Given the description of an element on the screen output the (x, y) to click on. 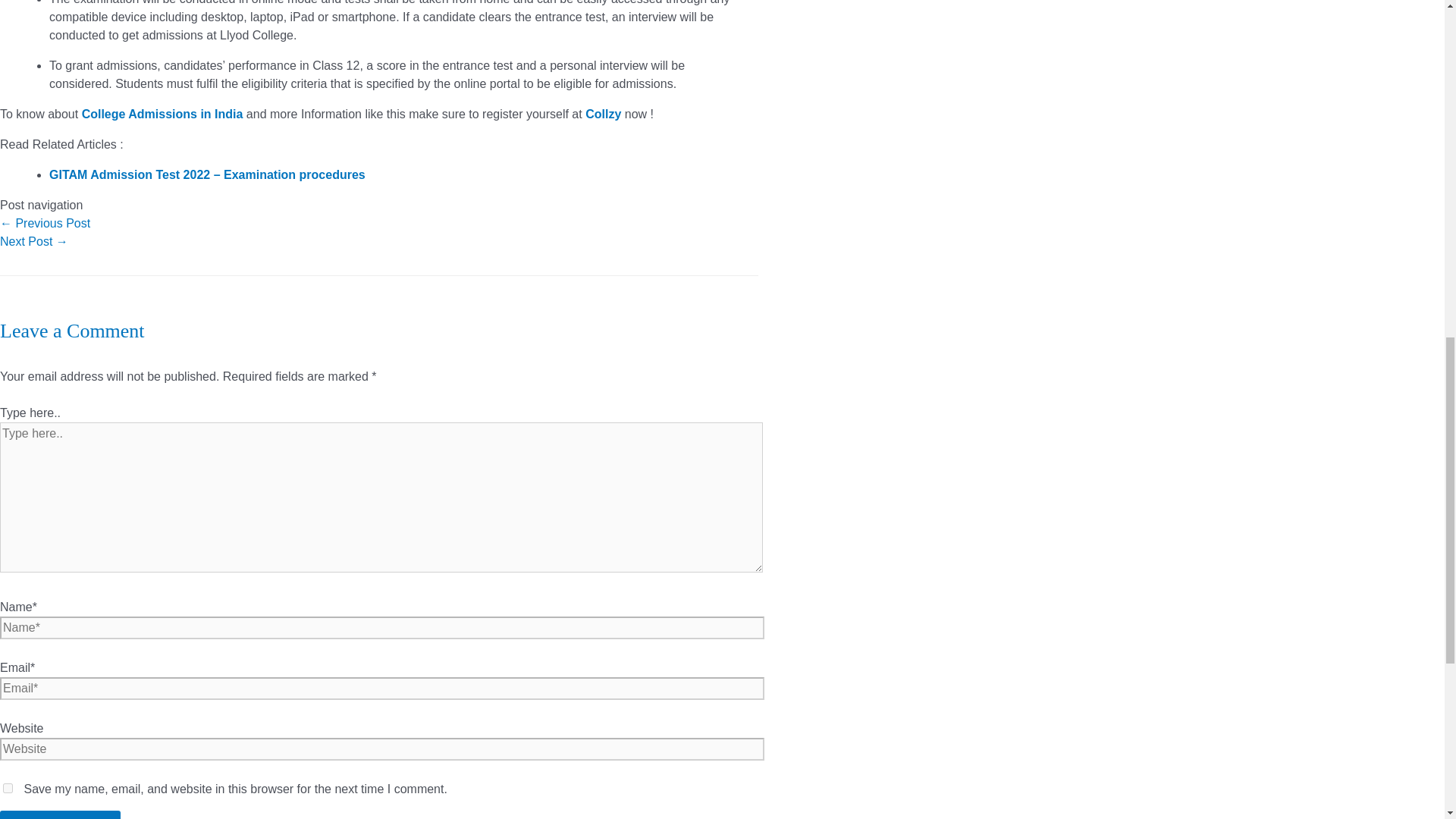
yes (7, 787)
Collzy (603, 113)
College Admissions in India (162, 113)
